Given the description of an element on the screen output the (x, y) to click on. 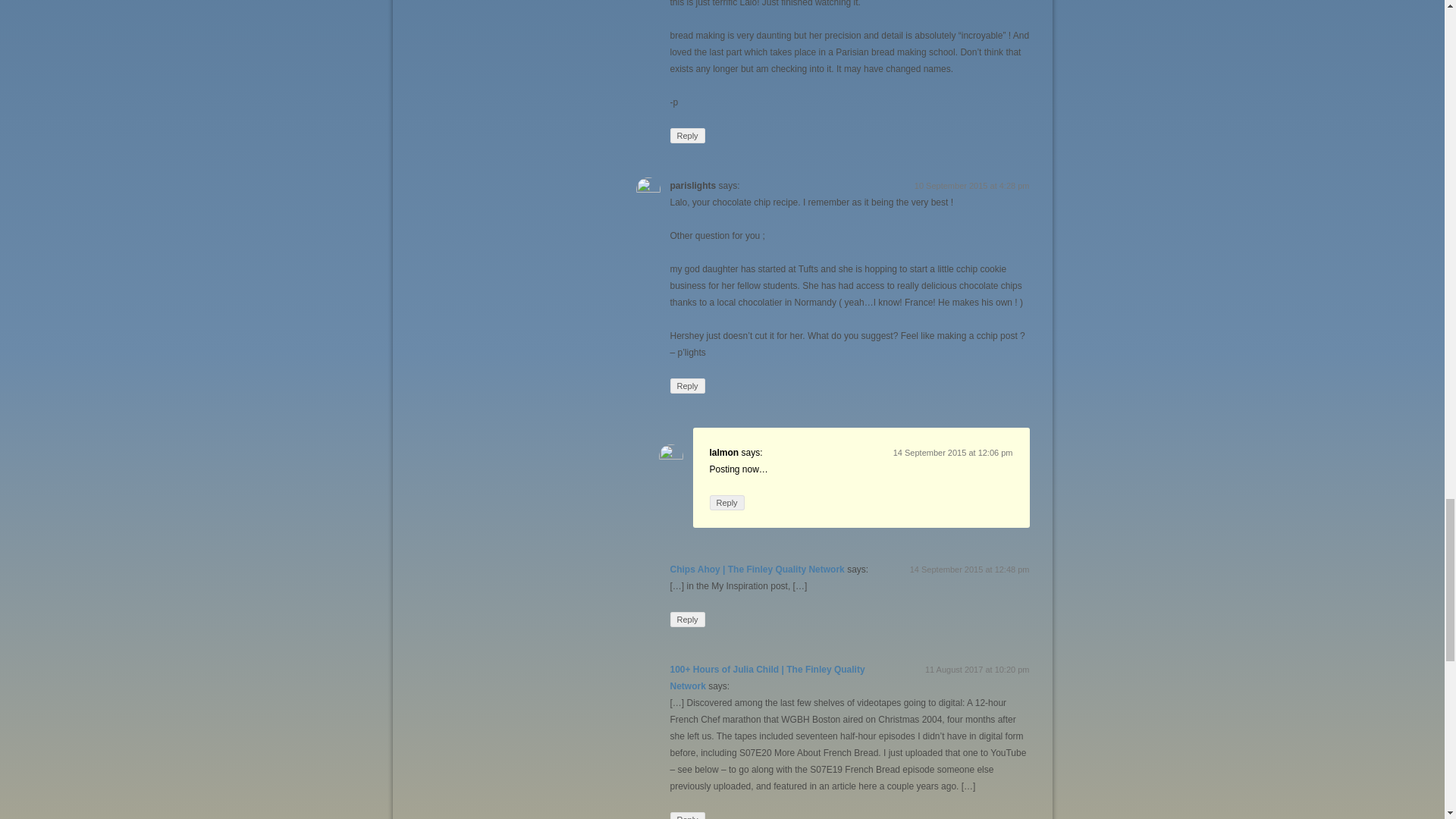
Reply (686, 619)
14 September 2015 at 12:48 pm (969, 569)
Reply (727, 502)
10 September 2015 at 4:28 pm (971, 185)
Reply (686, 135)
14 September 2015 at 12:06 pm (953, 452)
11 August 2017 at 10:20 pm (976, 669)
Reply (686, 385)
Reply (686, 815)
